Given the description of an element on the screen output the (x, y) to click on. 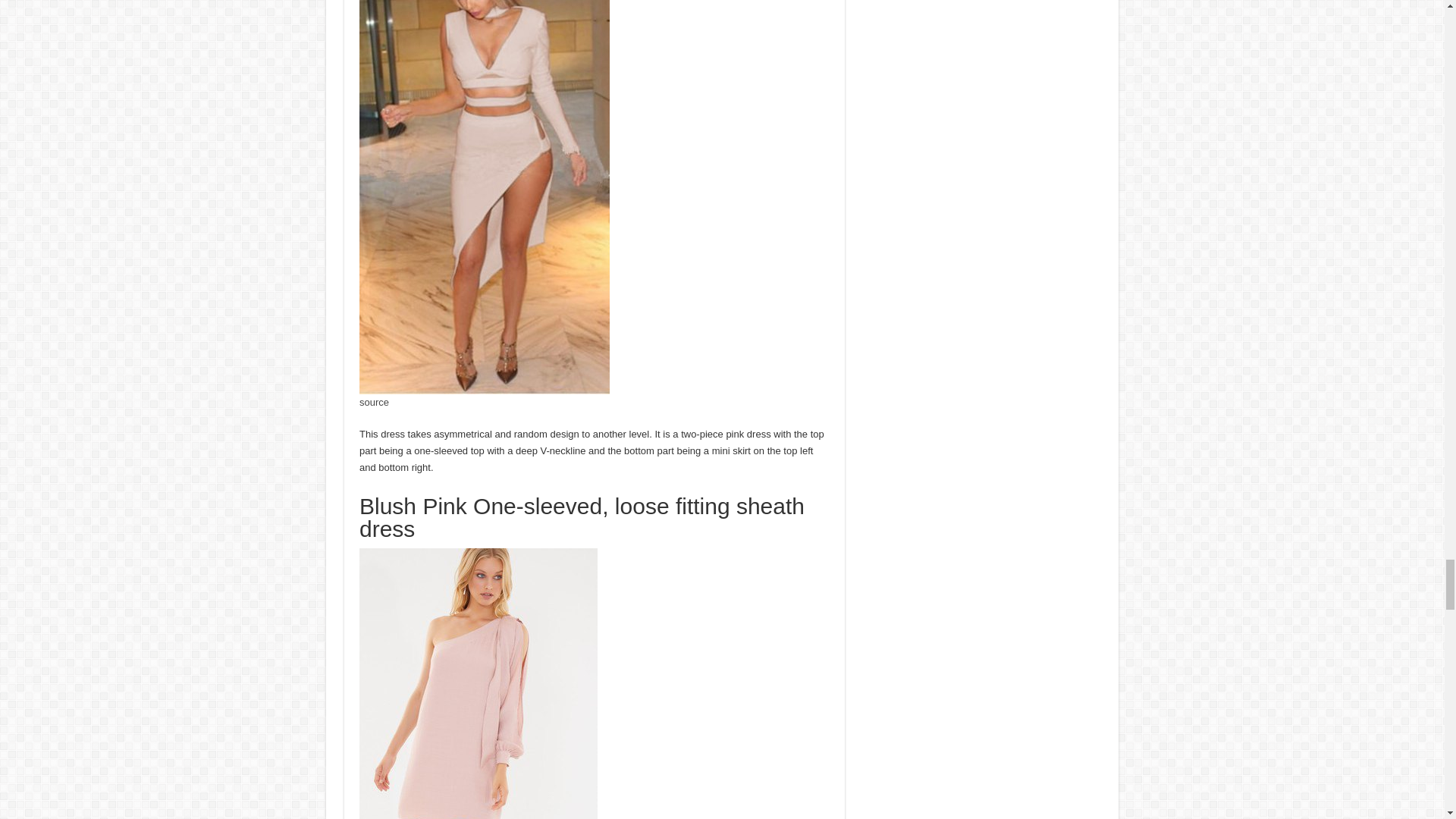
source (373, 401)
